Given the description of an element on the screen output the (x, y) to click on. 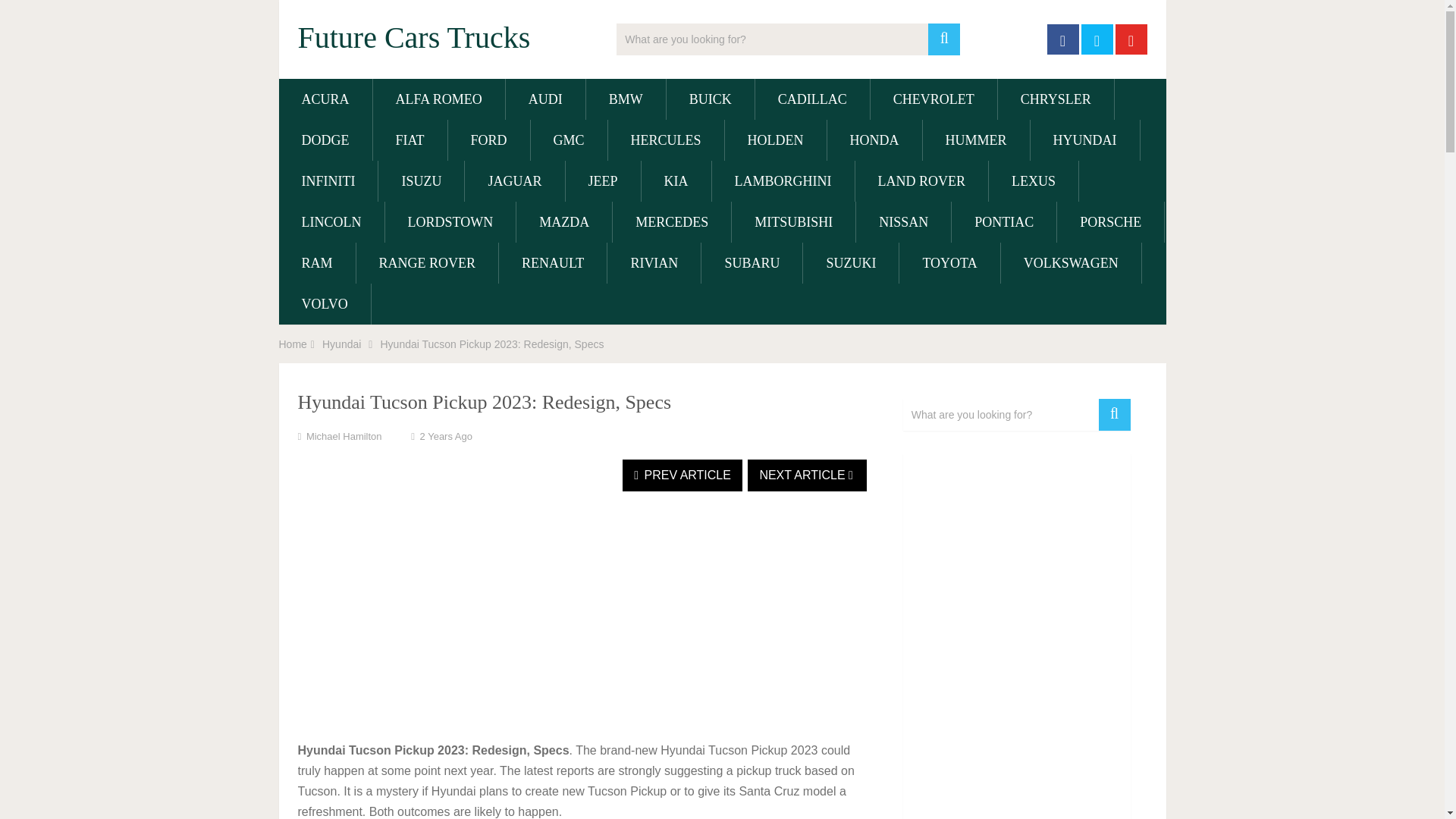
JAGUAR (514, 180)
HOLDEN (776, 139)
Posts by Michael Hamilton (343, 436)
BMW (625, 98)
MITSUBISHI (794, 221)
Advertisement (581, 626)
FORD (488, 139)
AUDI (545, 98)
CHEVROLET (933, 98)
JEEP (603, 180)
BUICK (710, 98)
Future Cars Trucks (413, 37)
MERCEDES (671, 221)
ALFA ROMEO (438, 98)
MAZDA (563, 221)
